Given the description of an element on the screen output the (x, y) to click on. 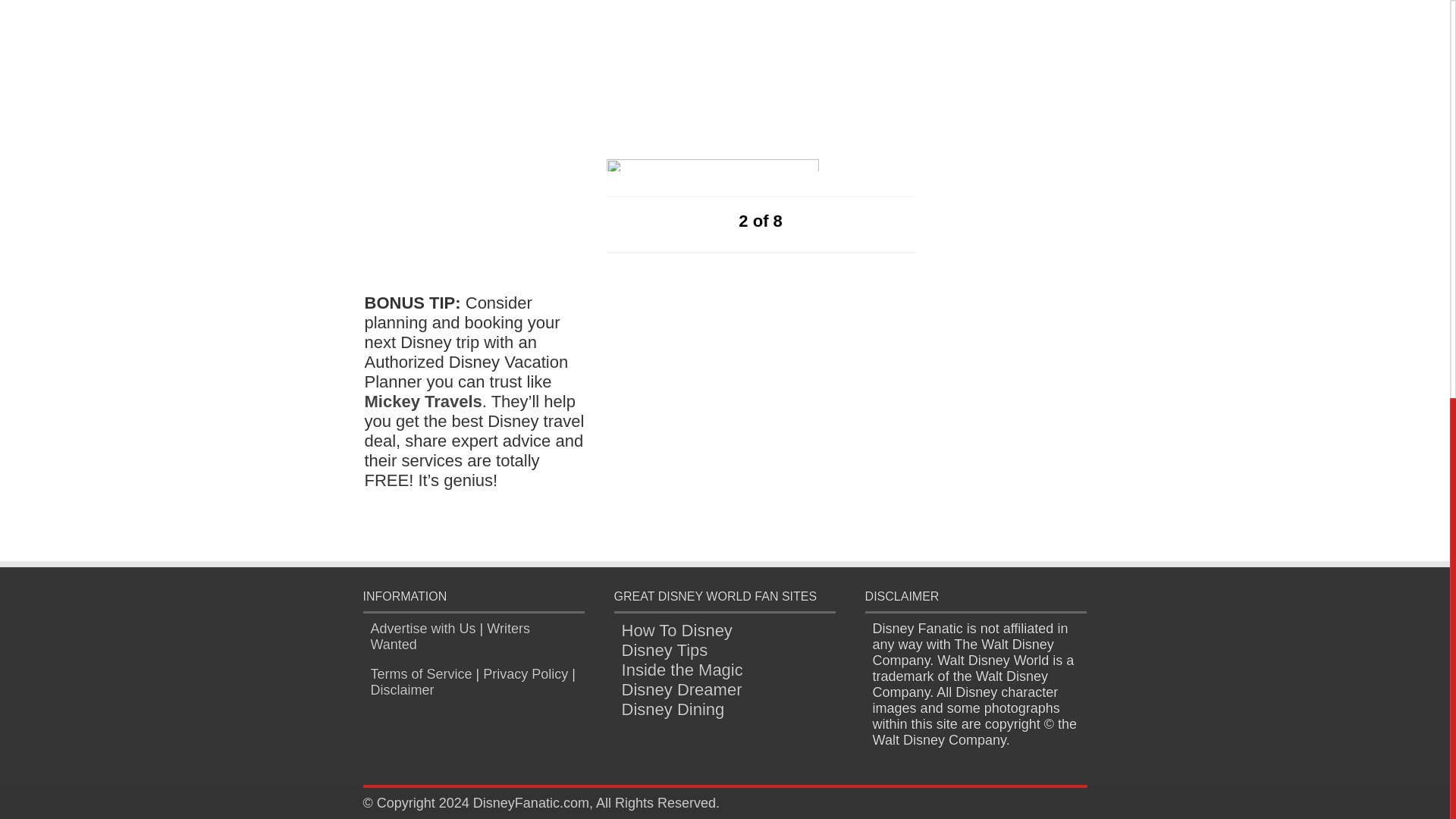
right (808, 220)
Privacy Policy (525, 673)
Advertisement (720, 62)
Advertise with Us (422, 628)
Disclaimer (401, 689)
Terms of Service (420, 673)
Mickey Travels (422, 401)
Disney Tips (664, 650)
Writers Wanted (449, 635)
Inside the Magic (681, 669)
